Given the description of an element on the screen output the (x, y) to click on. 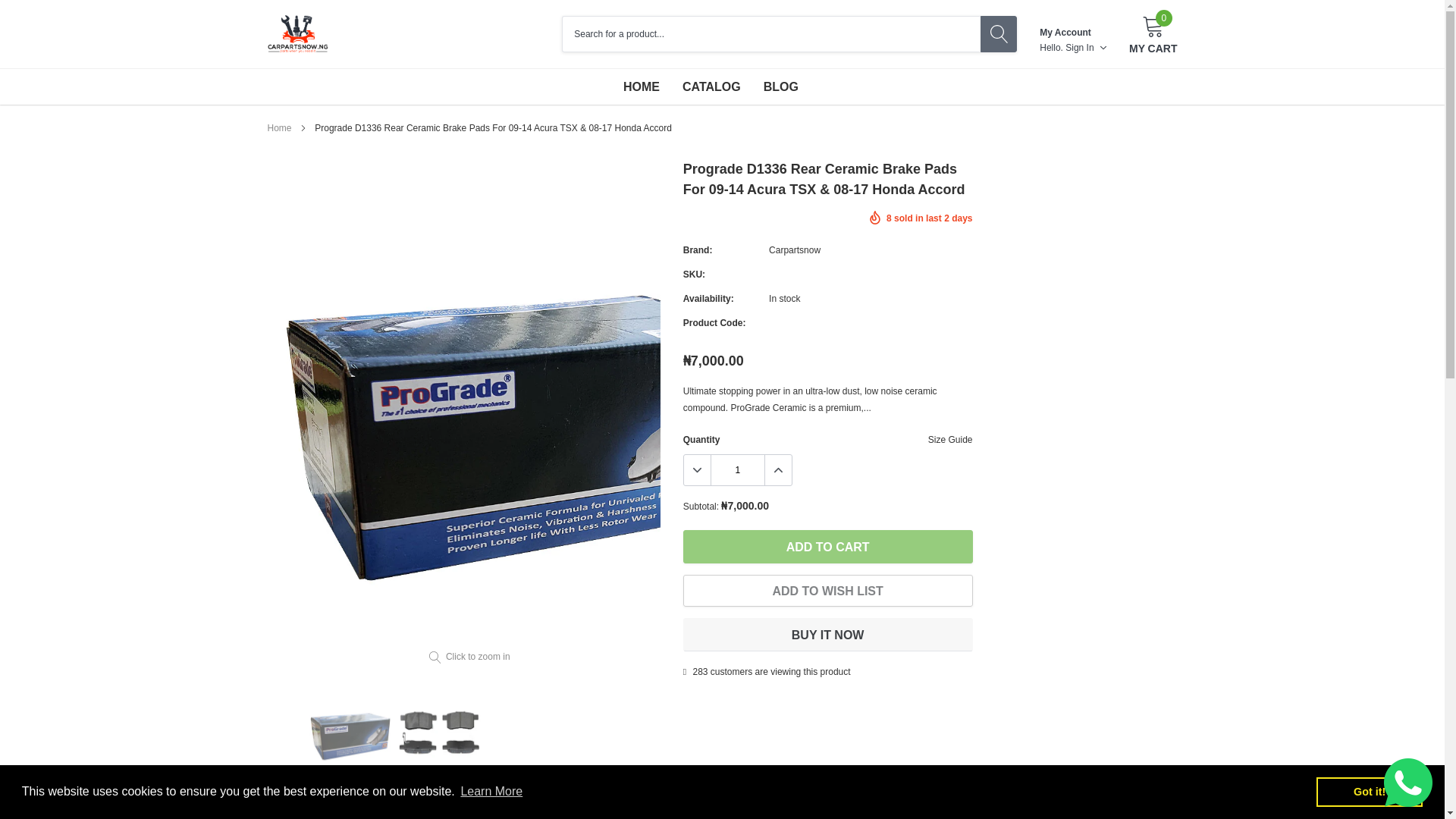
BLOG (779, 86)
1 (737, 470)
Learn More (491, 791)
Got it! (1369, 791)
search (1153, 34)
Sign In (997, 33)
Carpartsnow (1085, 46)
Home (794, 249)
CATALOG (278, 127)
HOME (711, 86)
